Given the description of an element on the screen output the (x, y) to click on. 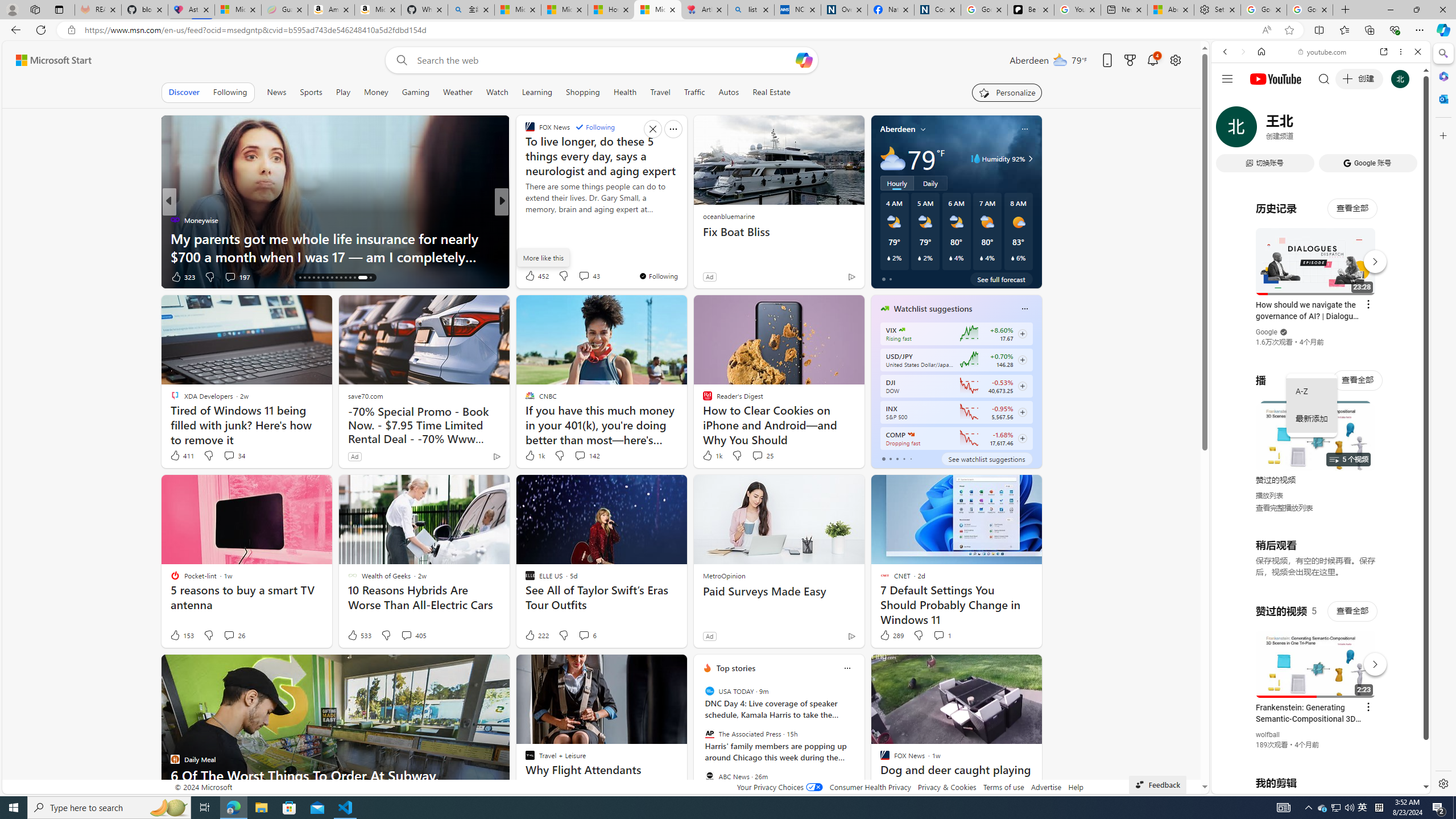
AutomationID: tab-27 (349, 277)
Arthritis: Ask Health Professionals (703, 9)
View comments 43 Comment (588, 275)
WEB   (1230, 130)
CBOE Market Volatility Index (901, 329)
Asthma Inhalers: Names and Types (191, 9)
Traffic (694, 92)
